Given the description of an element on the screen output the (x, y) to click on. 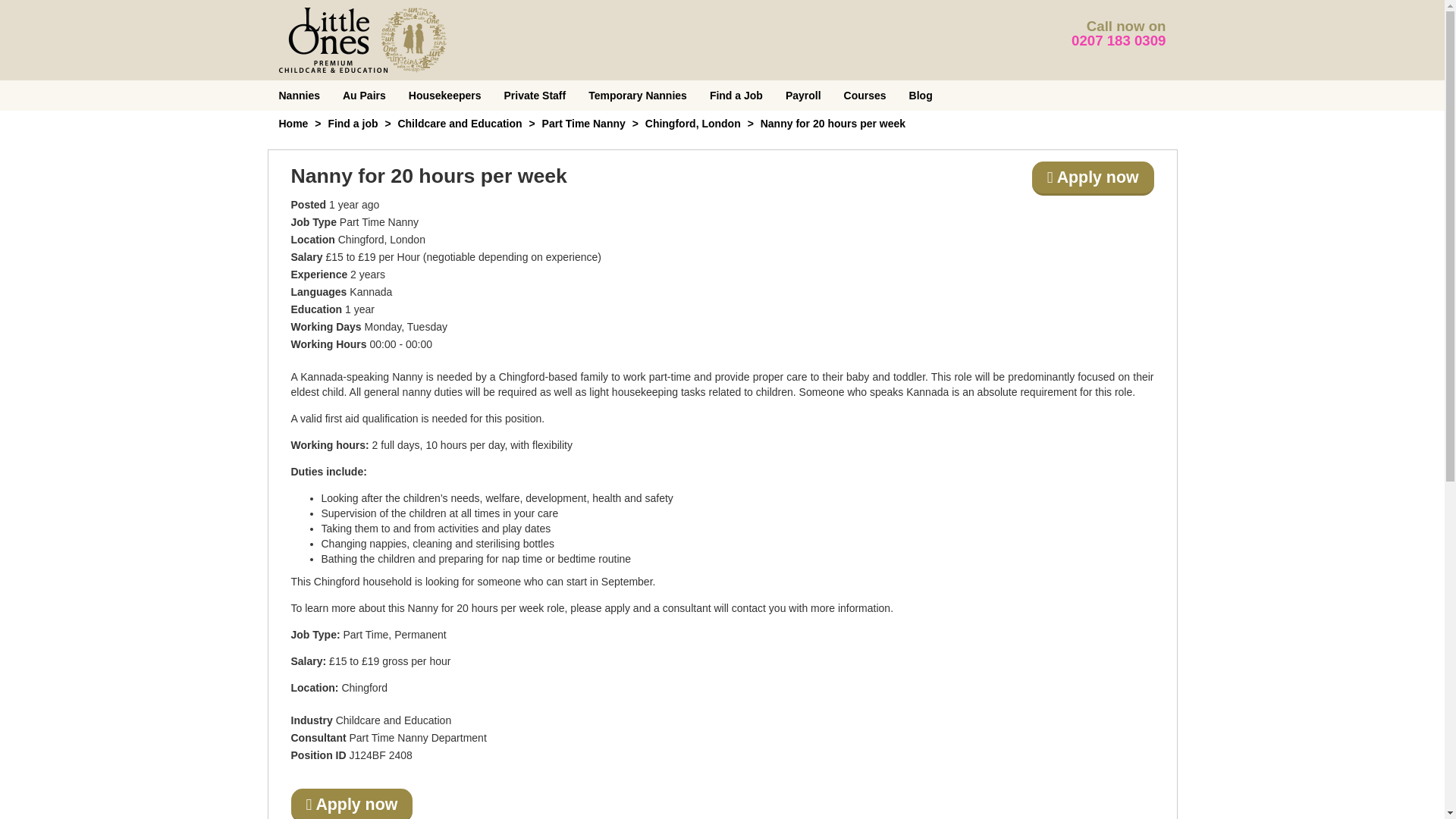
Housekeepers (445, 95)
0207 183 0309 (1118, 40)
Au Pairs (364, 95)
Nannies (298, 95)
